Given the description of an element on the screen output the (x, y) to click on. 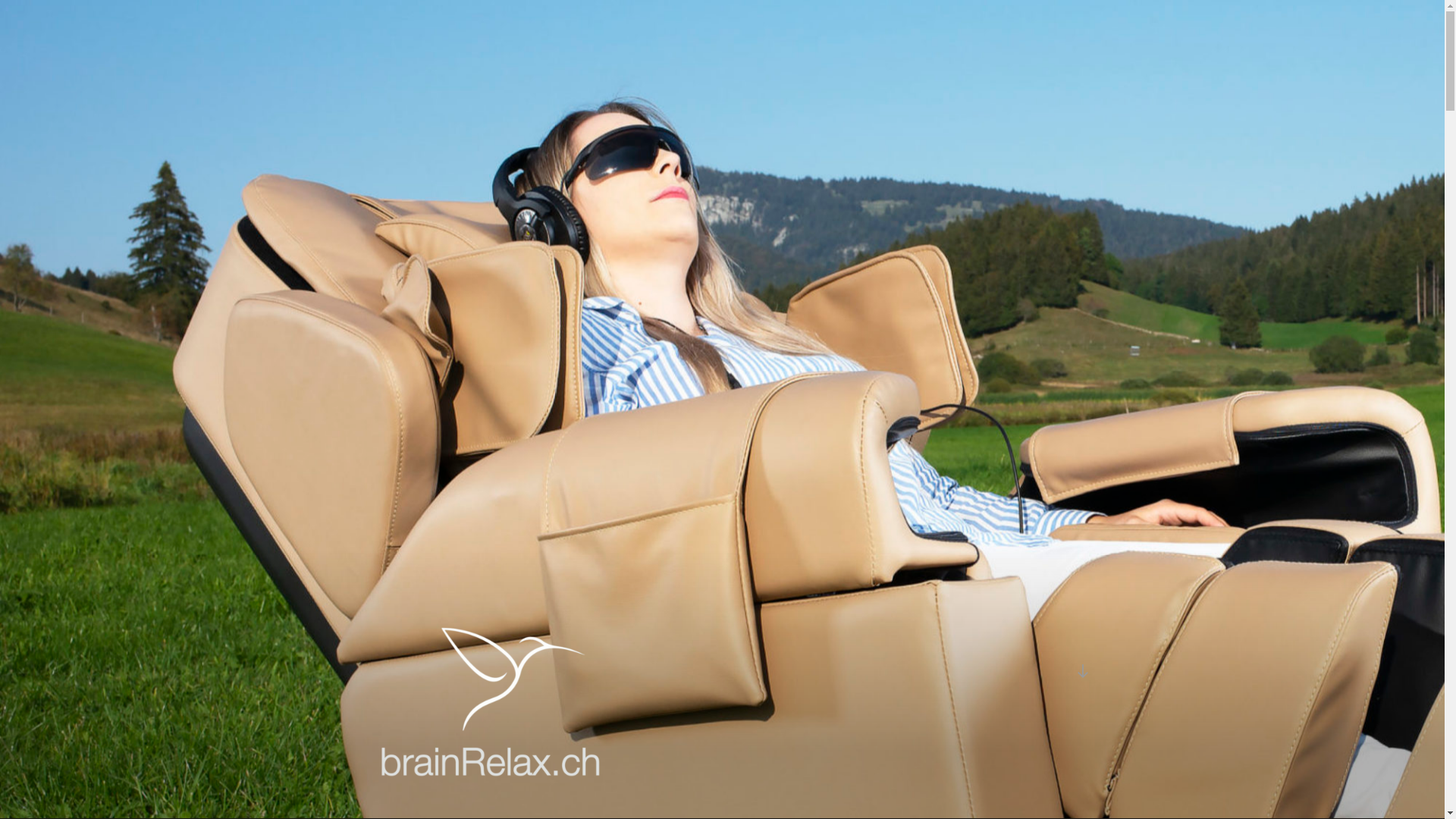
Descendre au contenu Element type: text (1082, 670)
BRAINRELAX Element type: text (482, 798)
